Given the description of an element on the screen output the (x, y) to click on. 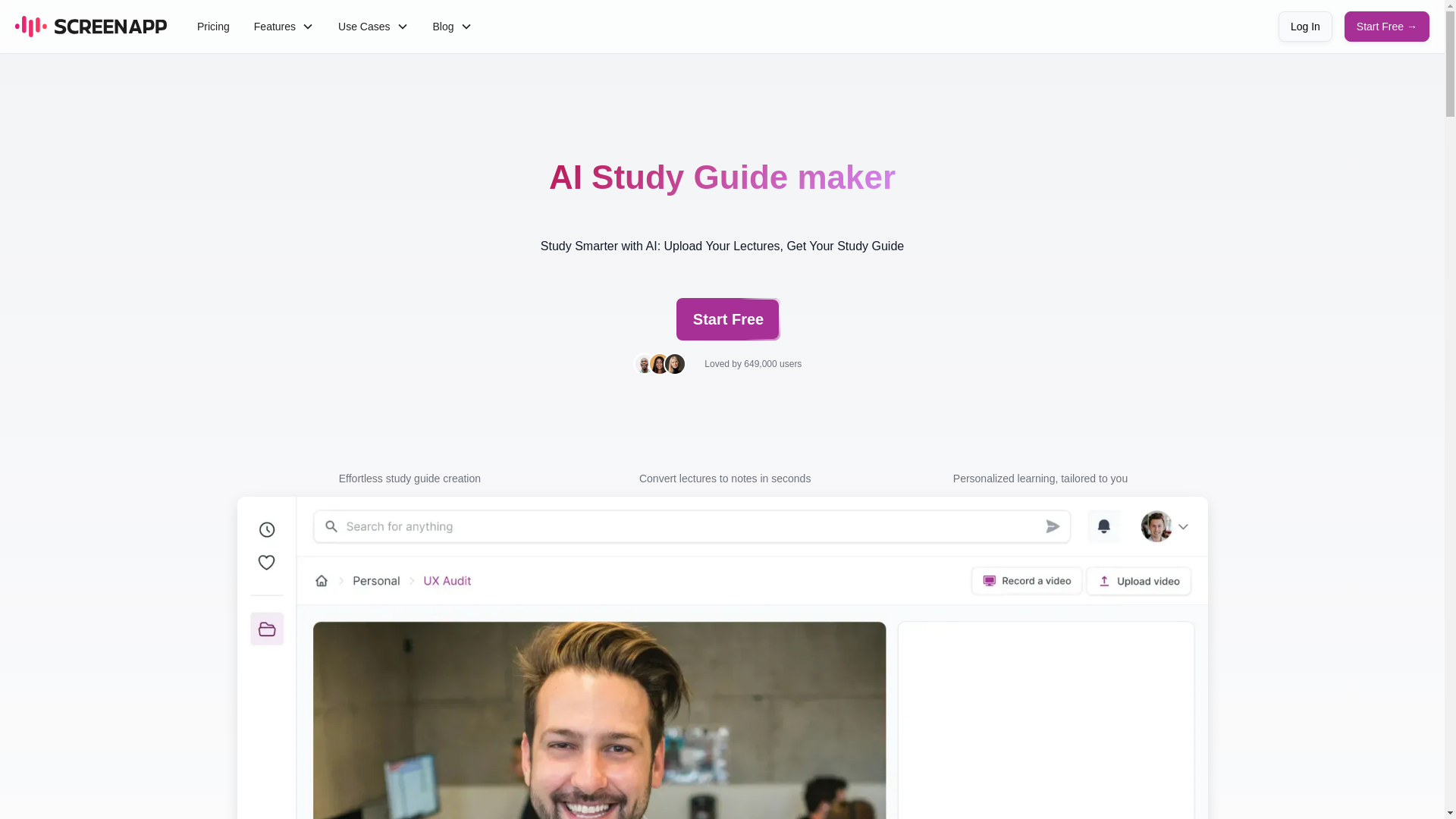
Pricing (212, 26)
